Given the description of an element on the screen output the (x, y) to click on. 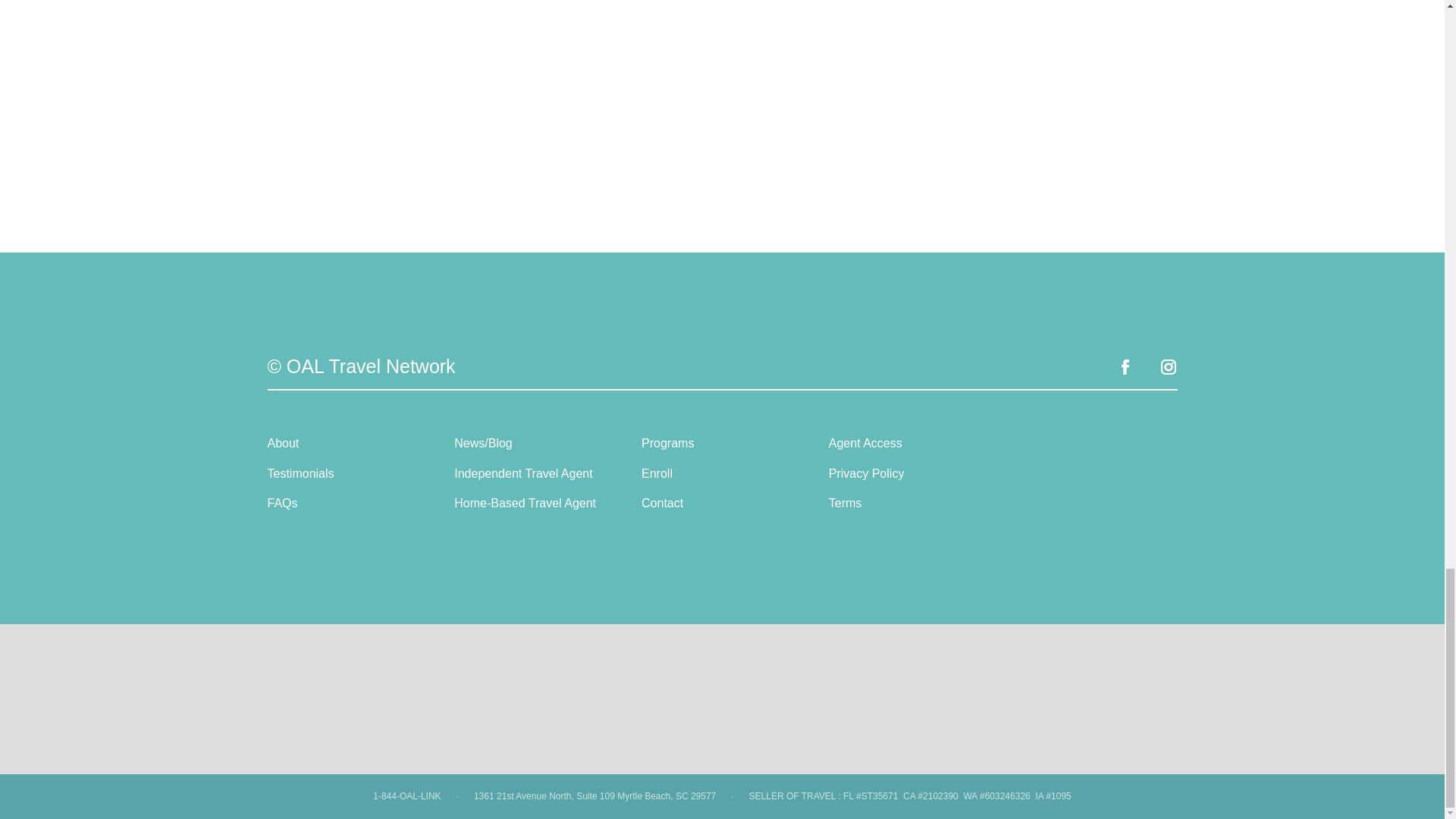
1-844-OAL-LINK (406, 796)
Testimonials (299, 472)
Privacy Policy (866, 472)
Independent Travel Agent (523, 472)
facebook (1125, 371)
Terms (844, 502)
Agent Access (865, 442)
About (282, 442)
Programs (668, 442)
Home-Based Travel Agent (524, 502)
